Given the description of an element on the screen output the (x, y) to click on. 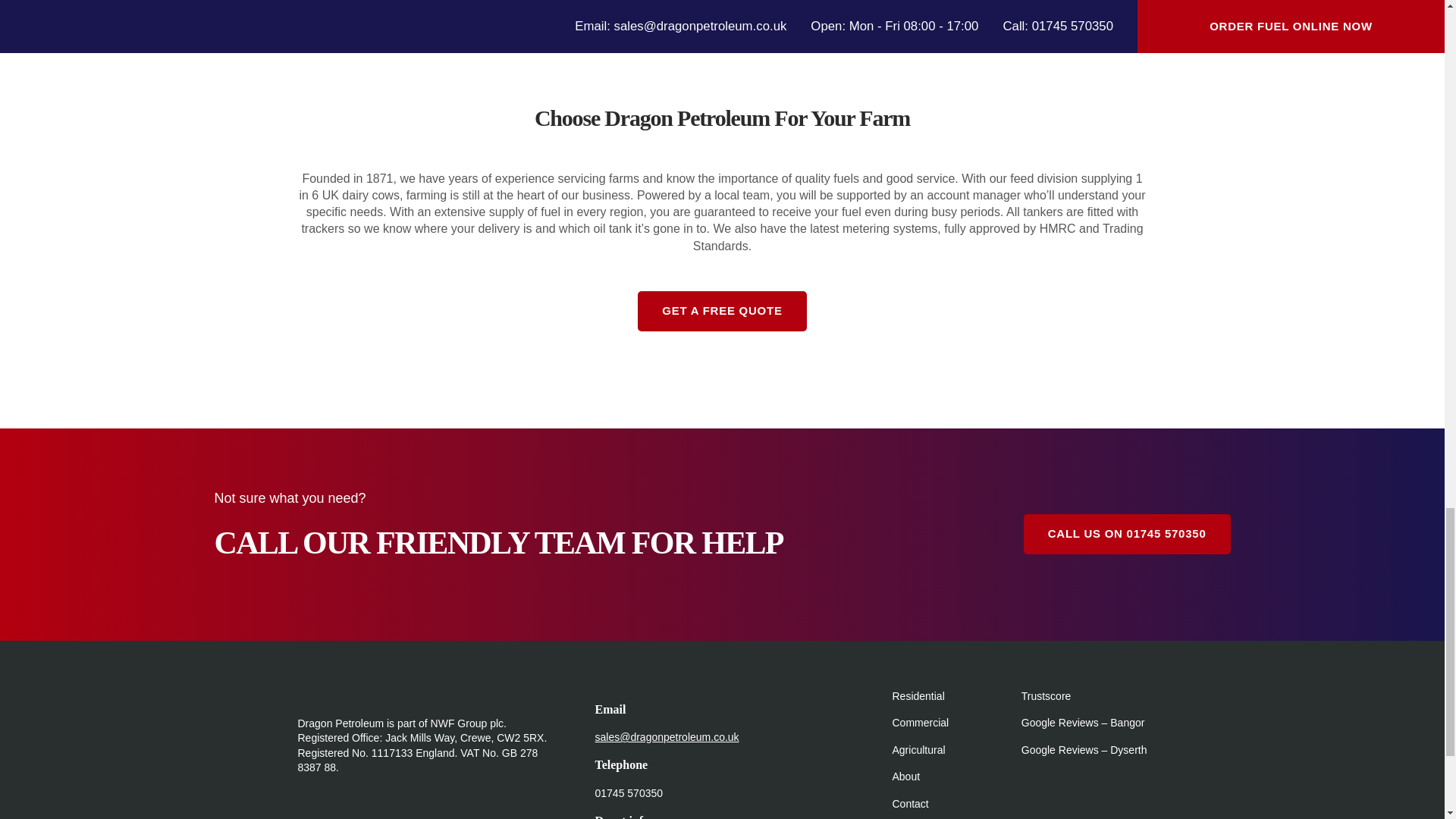
GET A FREE QUOTE (721, 311)
CALL US ON 01745 570350 (1126, 534)
Trustscore (1046, 695)
Commercial (920, 722)
01745 570350 (628, 793)
Residential (917, 695)
Contact (909, 803)
Agricultural (917, 749)
About (905, 776)
